Given the description of an element on the screen output the (x, y) to click on. 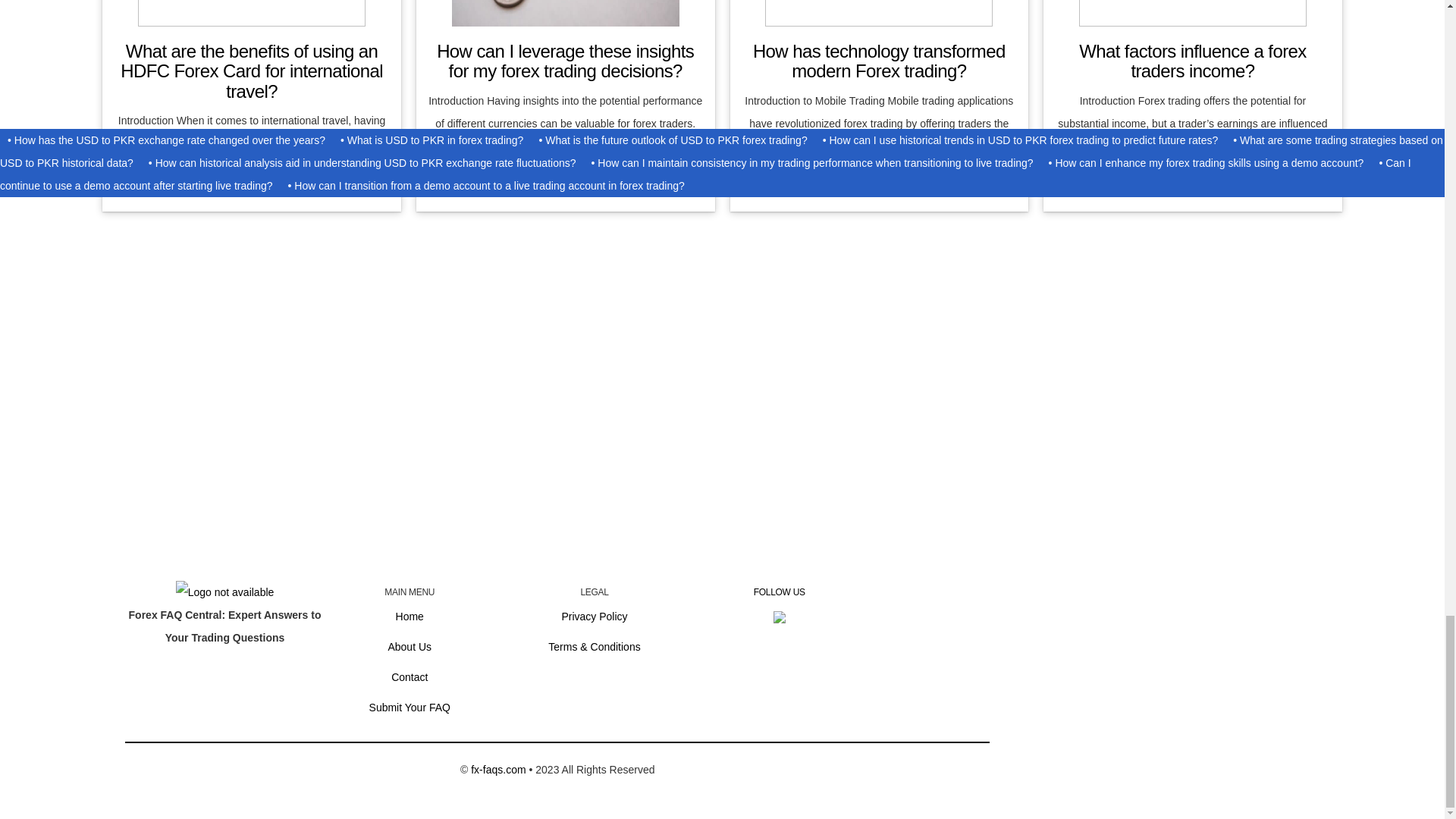
Read More.. (564, 168)
Home (409, 616)
Read More.. (1192, 168)
How has technology transformed modern Forex trading? (879, 60)
What factors influence a forex traders income? (1192, 60)
Read More.. (251, 188)
Read More.. (879, 168)
